Given the description of an element on the screen output the (x, y) to click on. 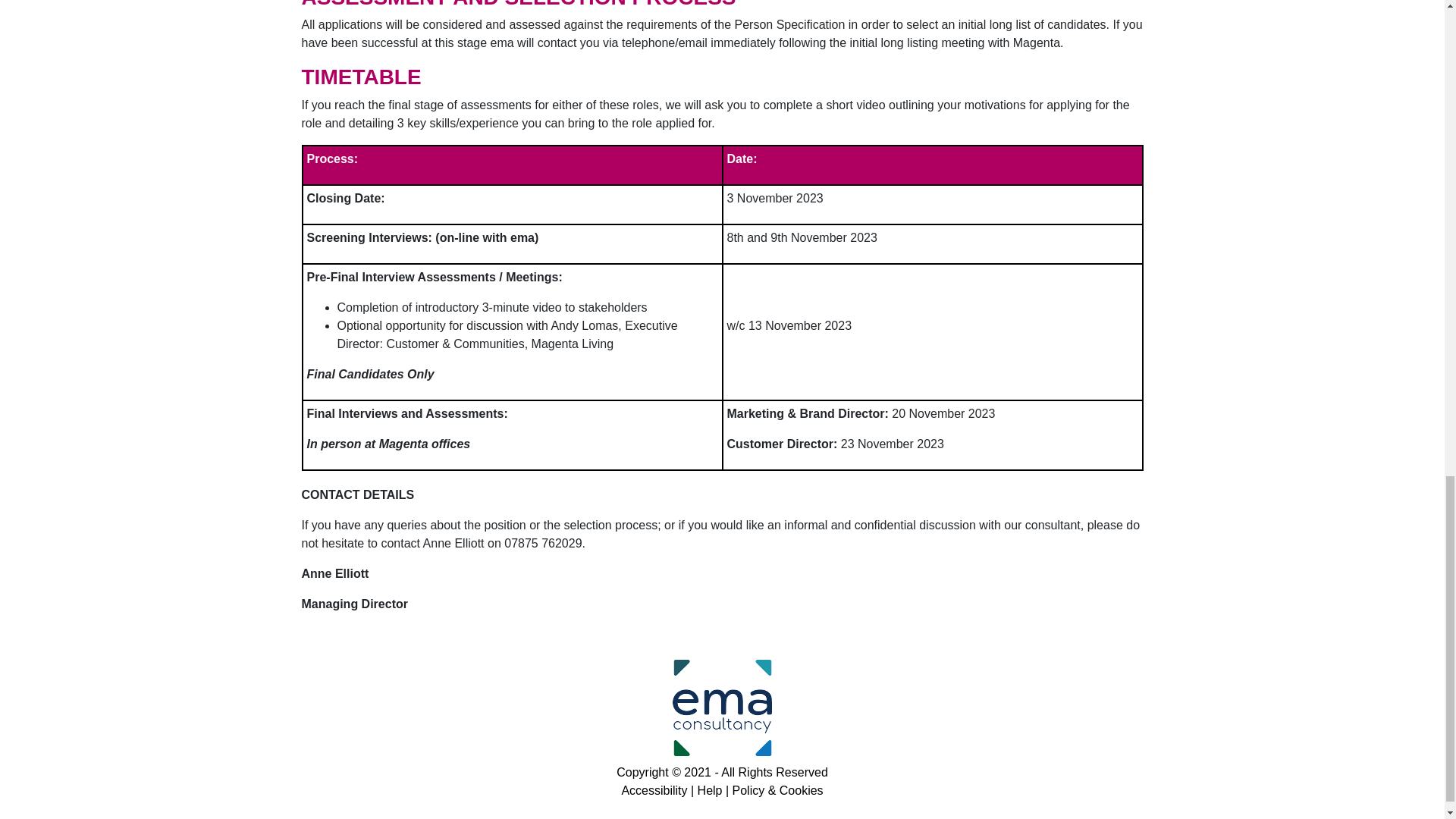
Opens in a new window (721, 710)
Accessibility (654, 789)
Opens in a new window (778, 789)
Help (709, 789)
